Given the description of an element on the screen output the (x, y) to click on. 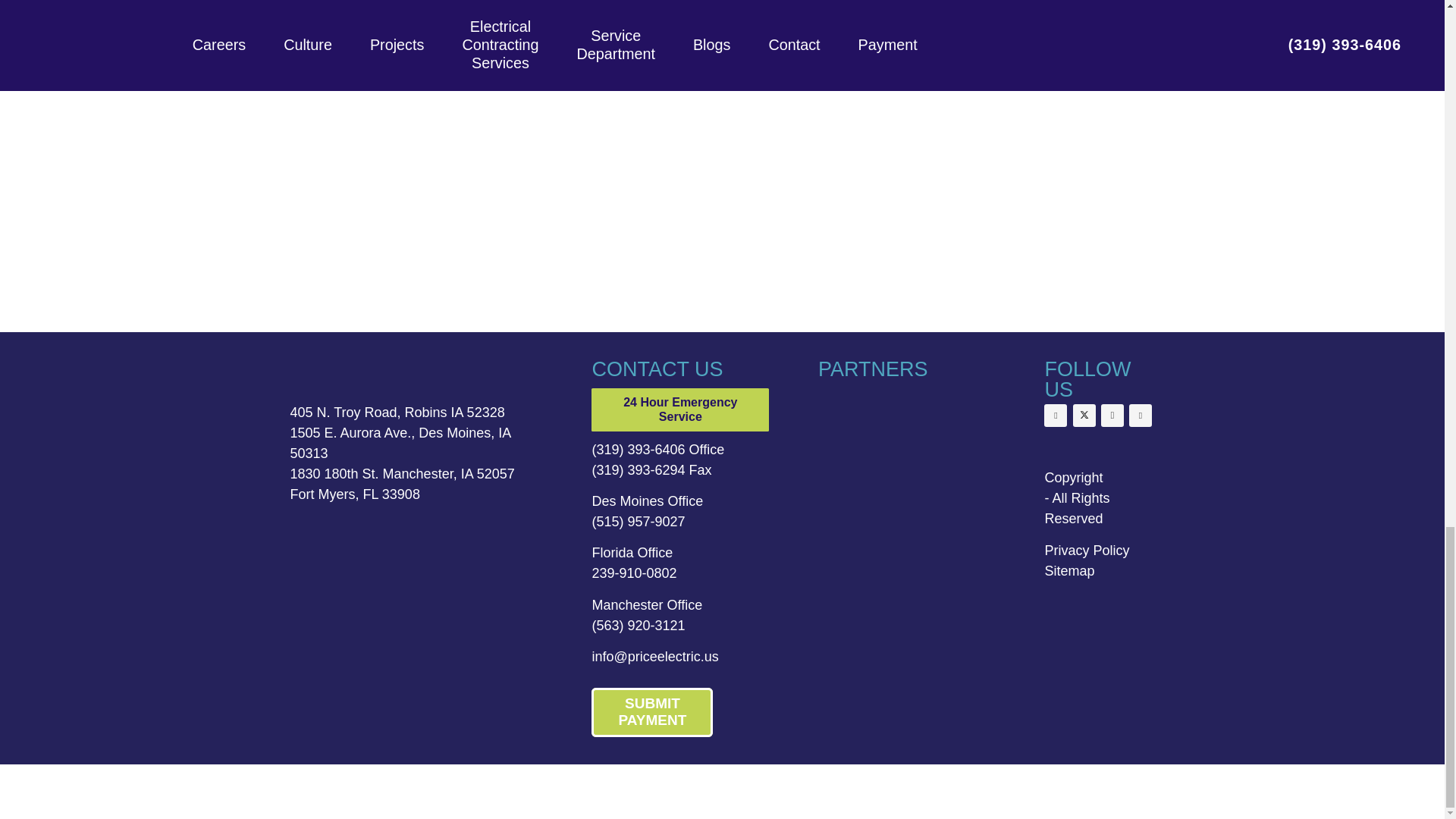
Instagram (1112, 415)
24 Hour Emergency Service (679, 410)
SUBMIT PAYMENT (652, 712)
Sitemap (1068, 570)
239-910-0802 (634, 572)
VCS (867, 429)
Privacy Policy (1086, 549)
Facebook (1055, 415)
LinkedIn (1140, 415)
Twitter (1084, 415)
